Given the description of an element on the screen output the (x, y) to click on. 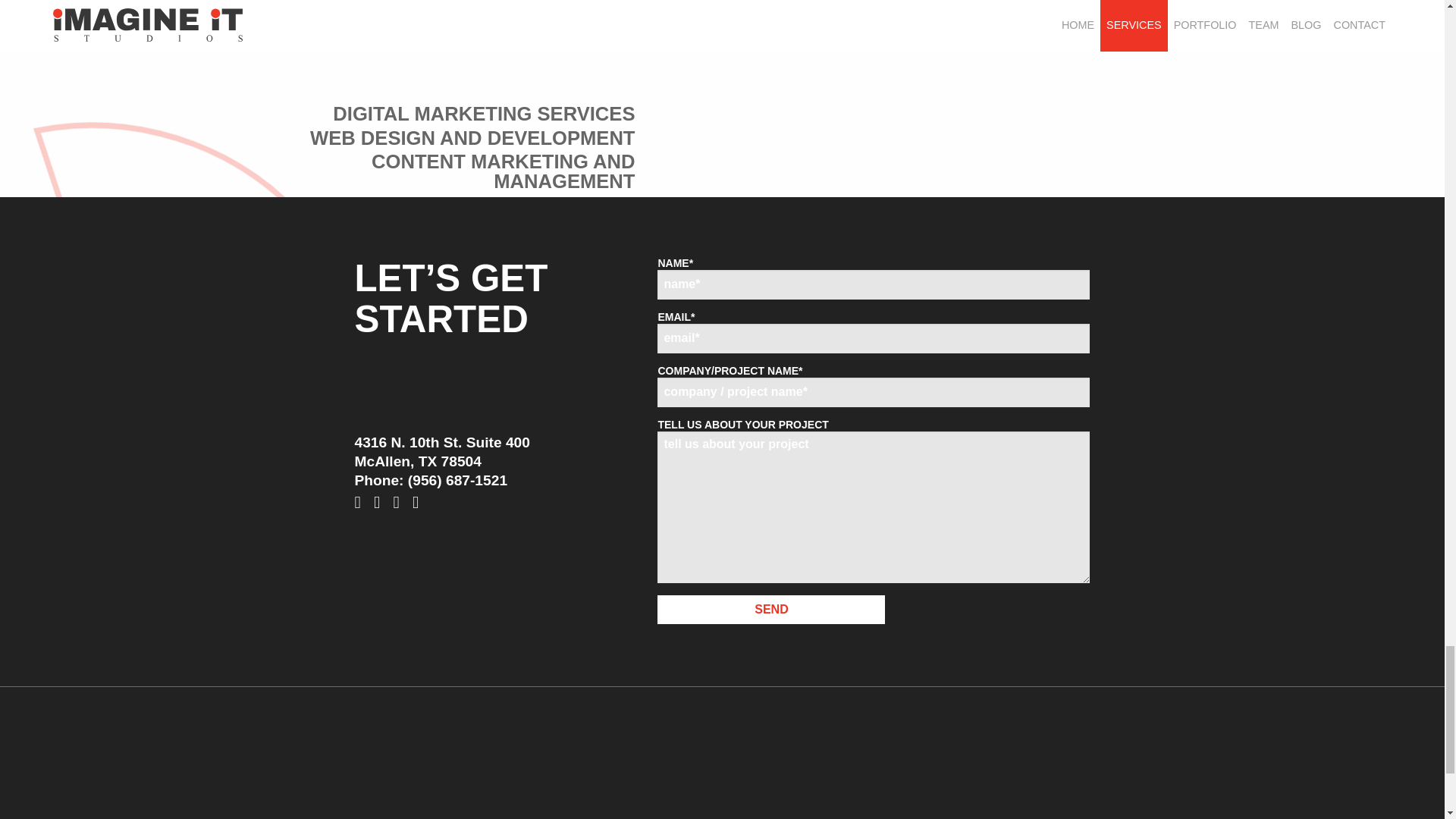
Imagine It Studios Instagram (401, 503)
Imagine It Studios Facebook (361, 503)
Send (771, 609)
Imagine It Studios Linked In (420, 503)
Imagine It Studios Twitter (381, 503)
